Given the description of an element on the screen output the (x, y) to click on. 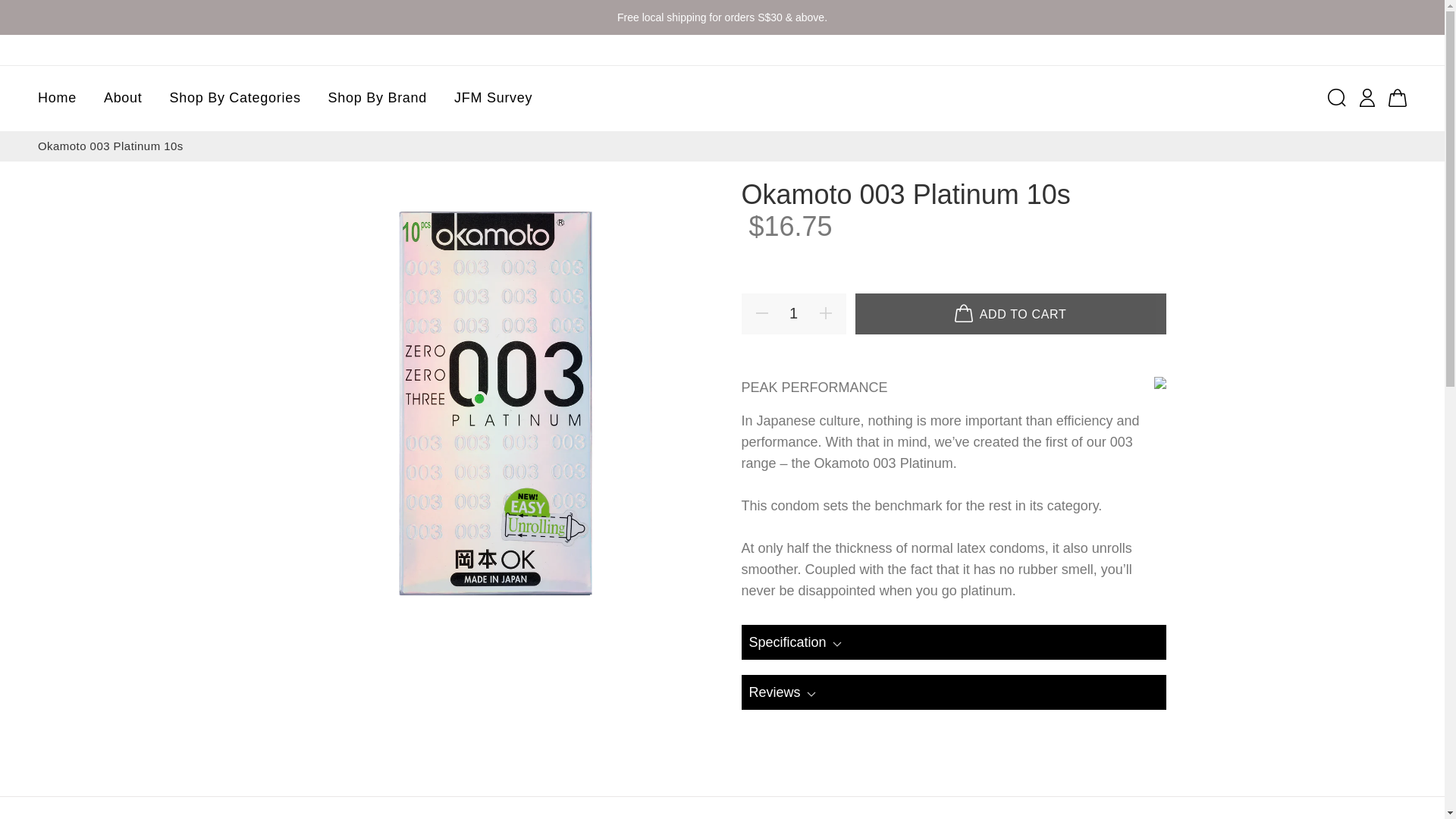
About (122, 98)
1 (793, 313)
JFM Survey (486, 98)
Shop By Brand (377, 98)
Shop By Categories (234, 98)
